Given the description of an element on the screen output the (x, y) to click on. 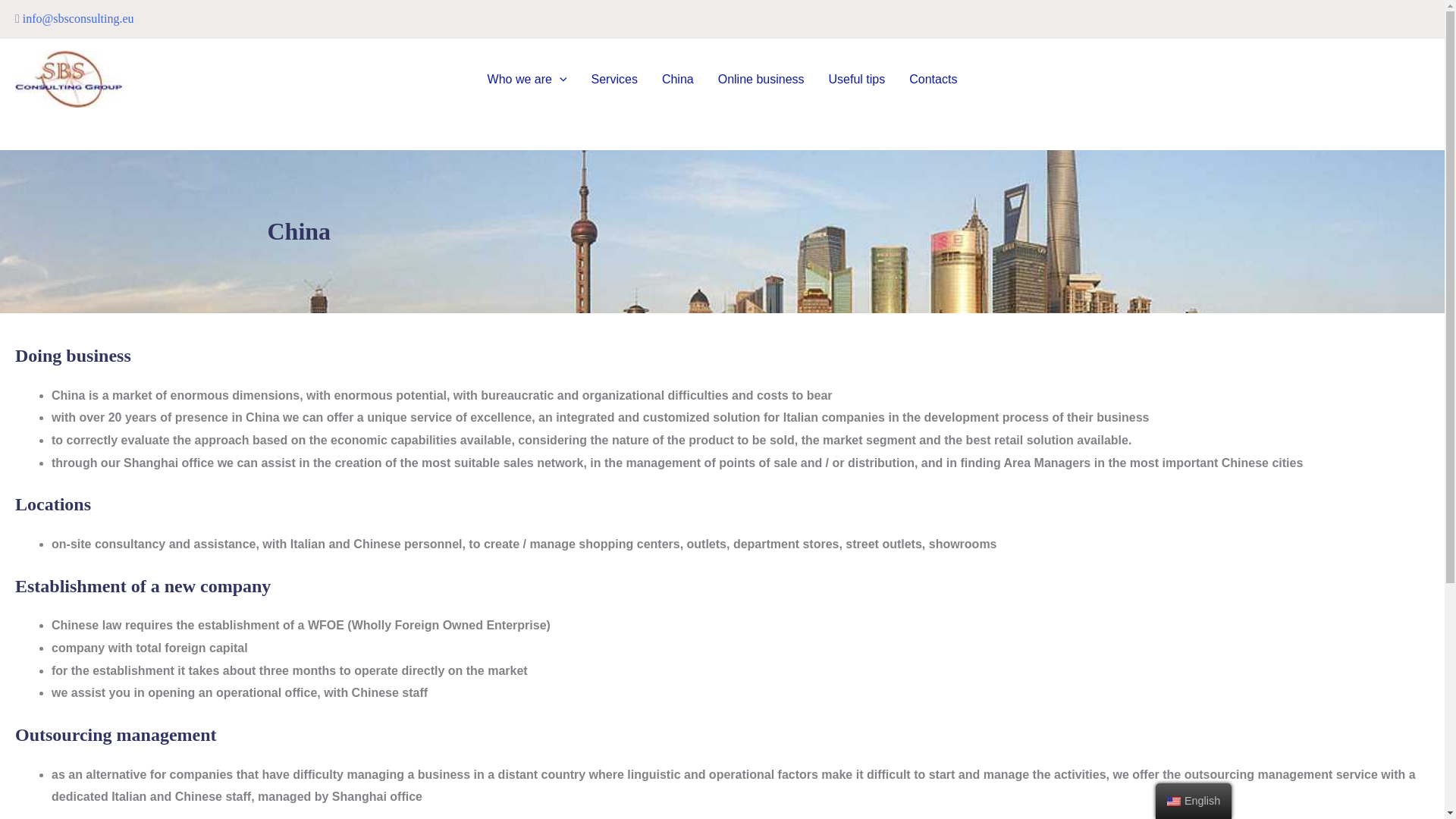
Useful tips (857, 79)
China (677, 79)
English (1173, 800)
Who we are (527, 79)
Online business (761, 79)
English (1193, 800)
Services (614, 79)
Contacts (932, 79)
